Given the description of an element on the screen output the (x, y) to click on. 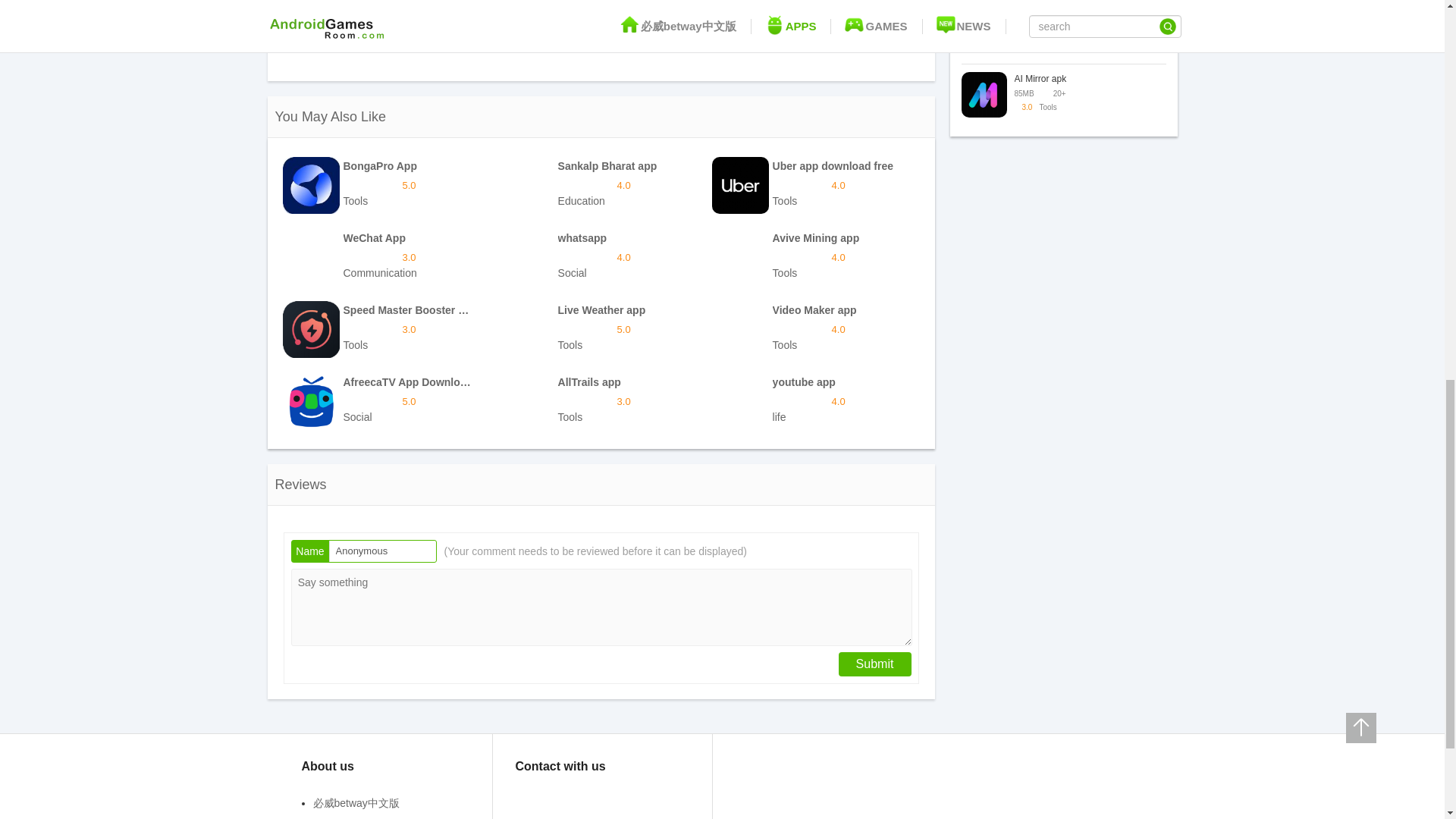
Walmart apk (814, 257)
Submit (600, 401)
Download (385, 257)
AI Mirror apk (385, 329)
